Given the description of an element on the screen output the (x, y) to click on. 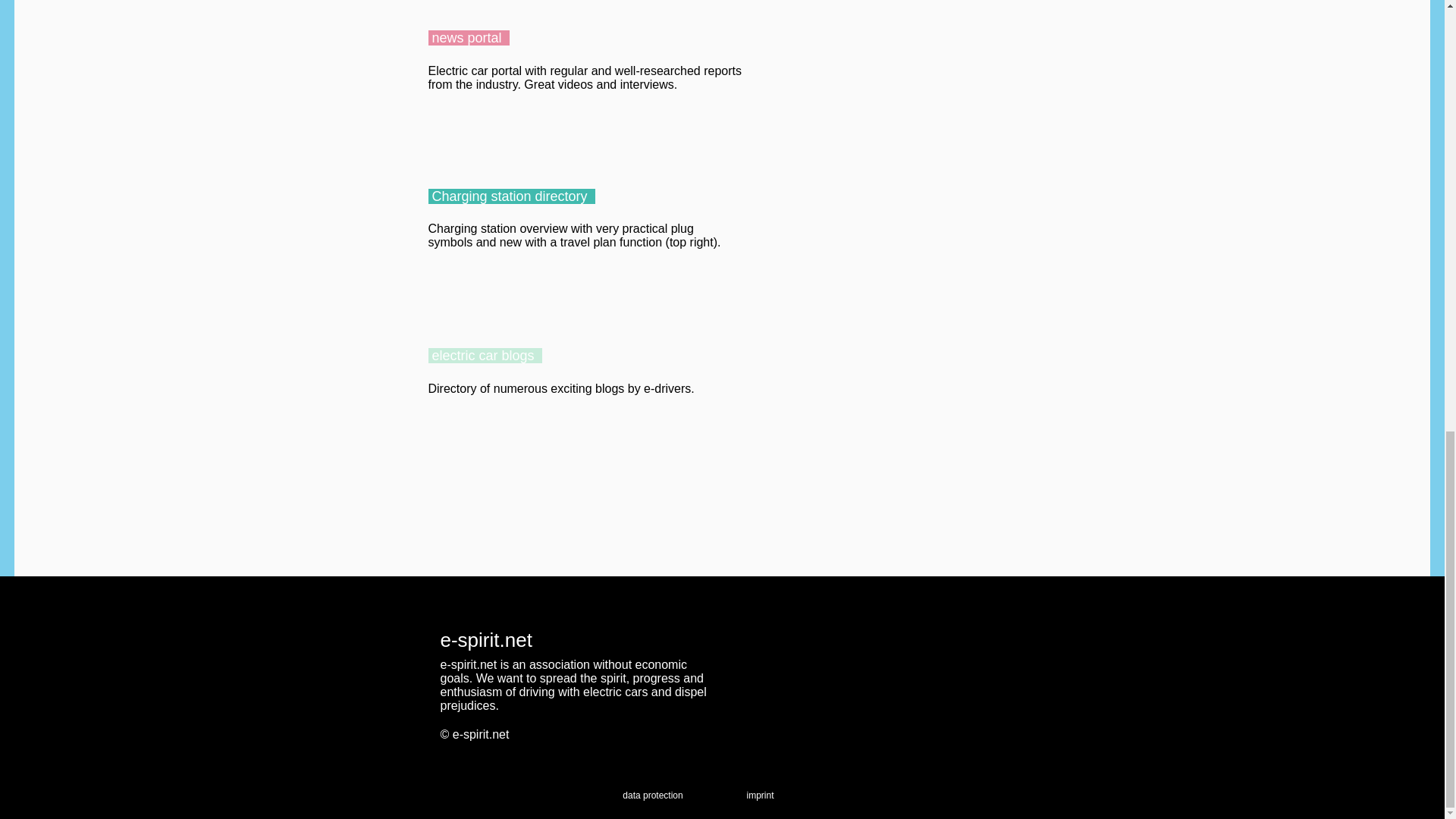
 electric car blogs   (484, 355)
 news portal   (468, 37)
data protection (652, 795)
imprint (759, 795)
 Charging station directory   (511, 196)
